Given the description of an element on the screen output the (x, y) to click on. 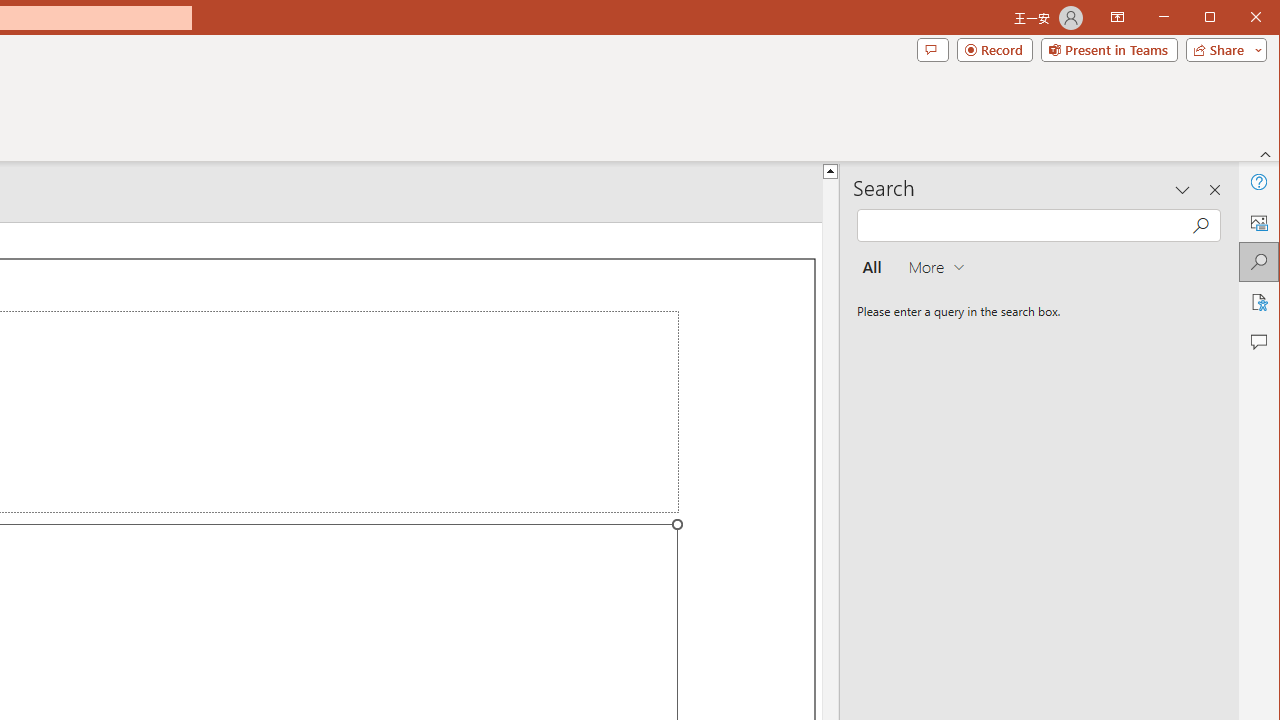
Record (994, 49)
Share (1222, 49)
Alt Text (1258, 221)
Comments (1258, 341)
Accessibility (1258, 301)
Search (1258, 261)
Present in Teams (1108, 49)
Close pane (1215, 189)
Collapse the Ribbon (1266, 154)
Task Pane Options (1183, 189)
Line up (829, 170)
Maximize (1238, 18)
Comments (932, 49)
Help (1258, 182)
